Given the description of an element on the screen output the (x, y) to click on. 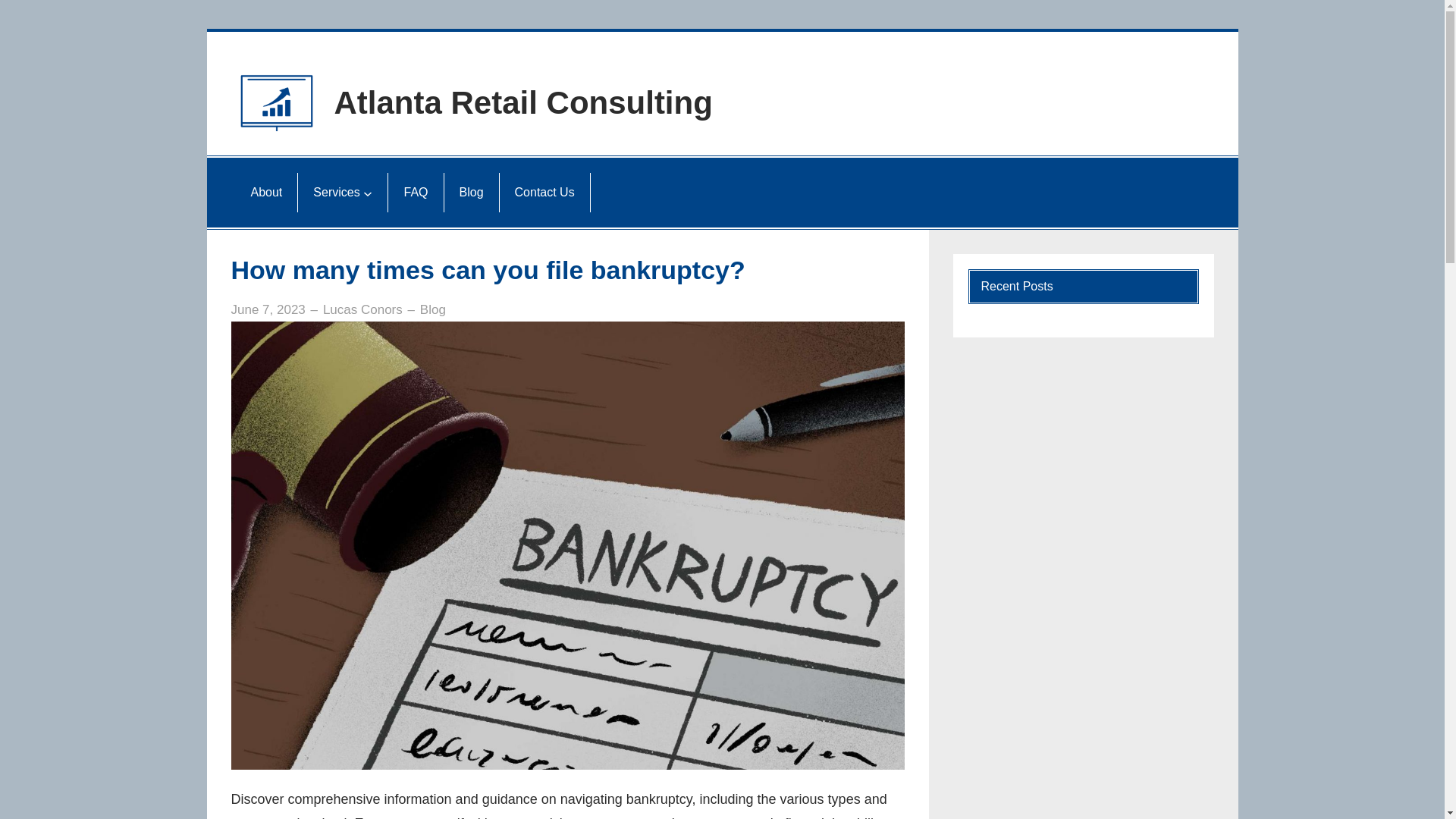
Blog Element type: text (471, 192)
Atlanta Retail Consulting Element type: text (522, 102)
Blog Element type: text (432, 309)
Contact Us Element type: text (544, 192)
FAQ Element type: text (415, 192)
Services Element type: text (336, 192)
About Element type: text (266, 192)
June 7, 2023 Element type: text (267, 309)
